Given the description of an element on the screen output the (x, y) to click on. 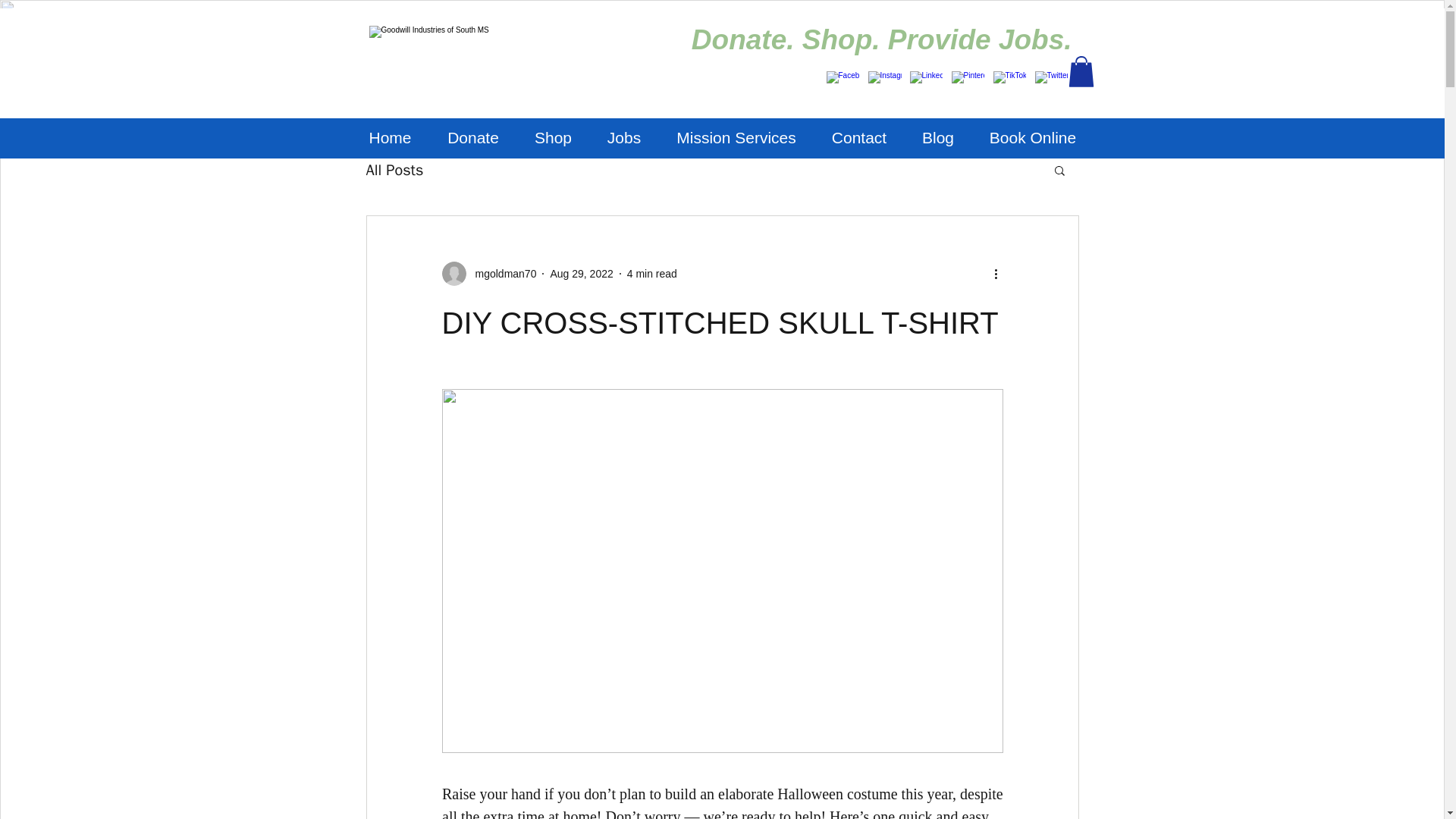
Home (389, 137)
Contact (858, 137)
Jobs (624, 137)
mgoldman70 (500, 273)
Shop (552, 137)
Donate (472, 137)
Click to Refresh page (489, 55)
4 min read (652, 272)
Blog (937, 137)
All Posts (394, 168)
Aug 29, 2022 (581, 272)
Book Online (1033, 137)
Mission Services (735, 137)
mgoldman70 (488, 273)
